Given the description of an element on the screen output the (x, y) to click on. 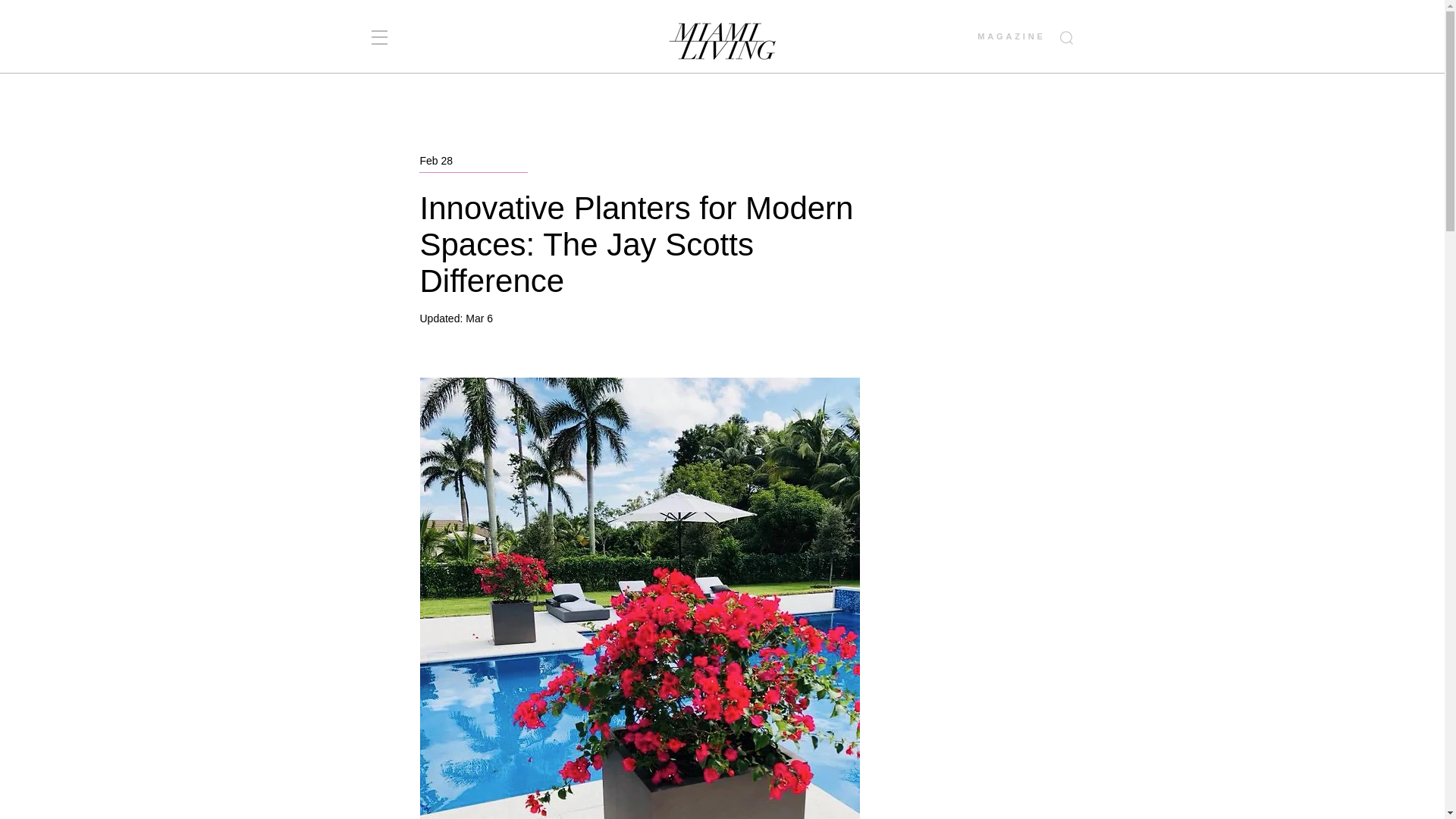
Mar 6 (479, 318)
Feb 28 (436, 160)
MAGAZINE (1010, 35)
